Given the description of an element on the screen output the (x, y) to click on. 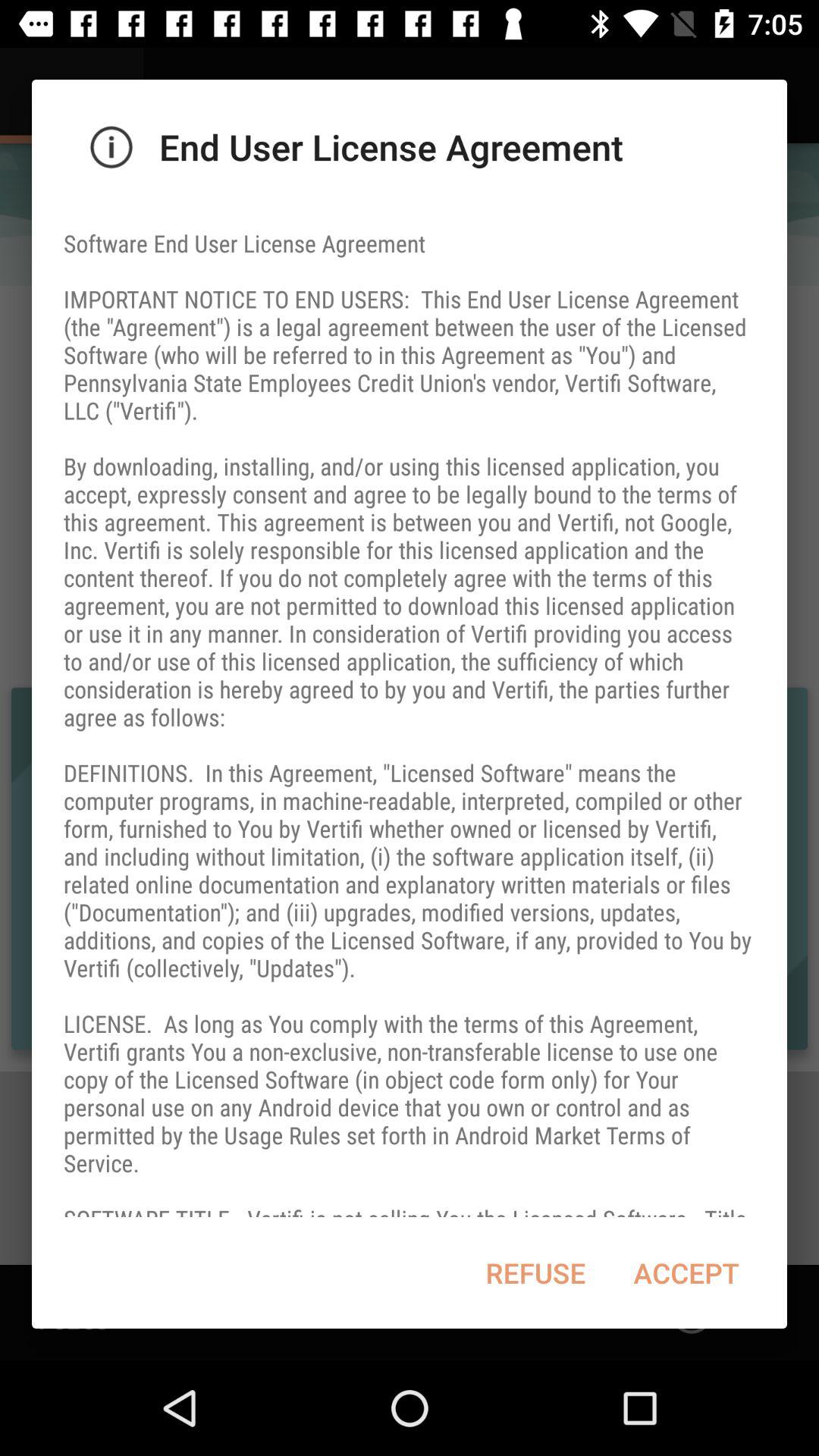
choose the item below the software end user icon (686, 1272)
